Given the description of an element on the screen output the (x, y) to click on. 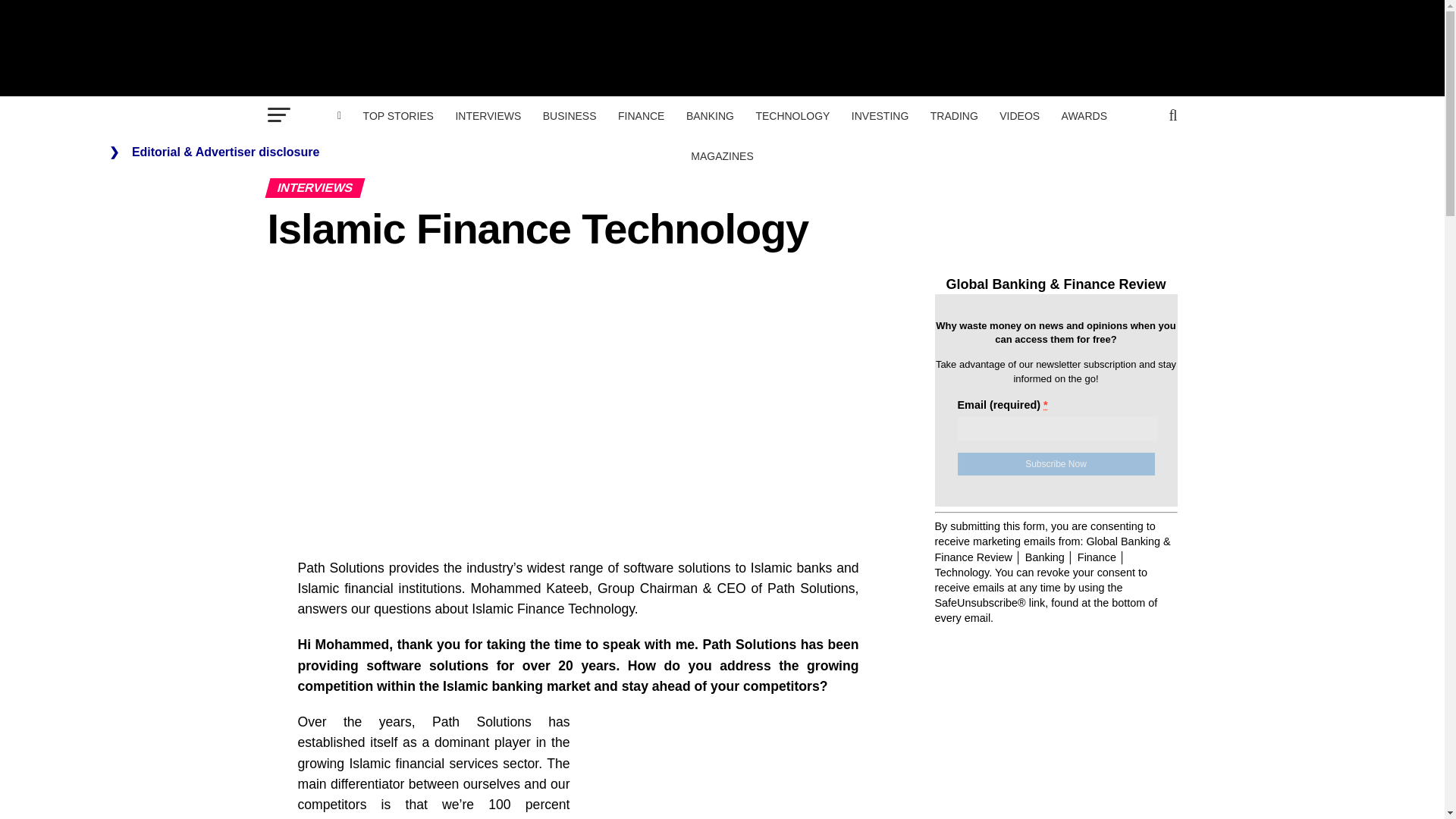
TECHNOLOGY (791, 116)
TOP STORIES (397, 116)
Top Stories (397, 116)
Finance (640, 116)
Subscribe Now (1055, 463)
BANKING (709, 116)
MAGAZINES (721, 156)
AWARDS (1084, 116)
BUSINESS (569, 116)
TRADING (954, 116)
Subscribe Now (1055, 463)
Banking (709, 116)
INTERVIEWS (487, 116)
Business (569, 116)
Interviews (487, 116)
